Given the description of an element on the screen output the (x, y) to click on. 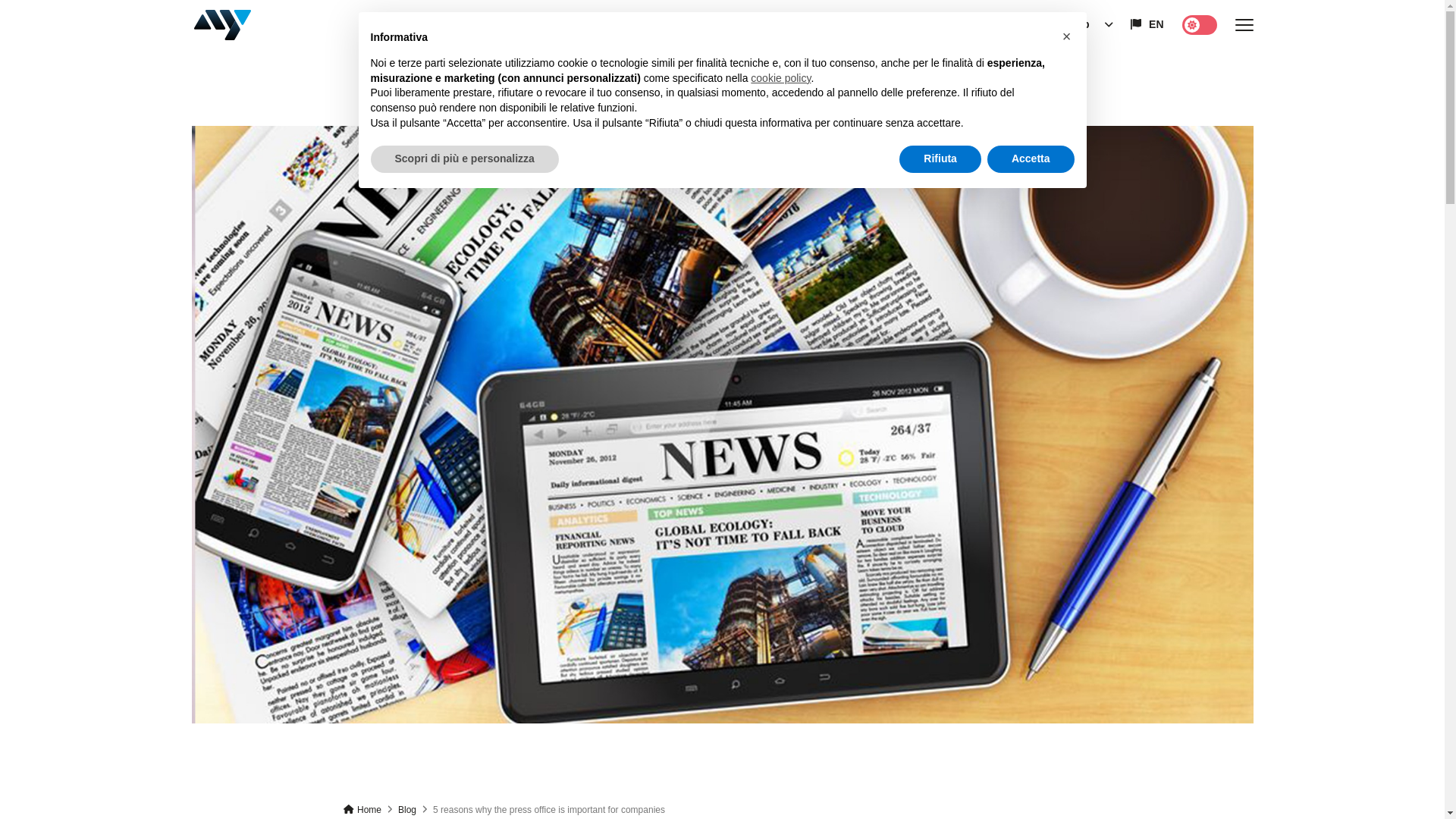
Home (361, 809)
Menu (1243, 24)
Home (361, 809)
Mediability (222, 25)
The Group (1061, 24)
The Group (1061, 24)
Blog (406, 809)
Blog (406, 809)
Language (1146, 24)
Dark mode (1198, 24)
